Given the description of an element on the screen output the (x, y) to click on. 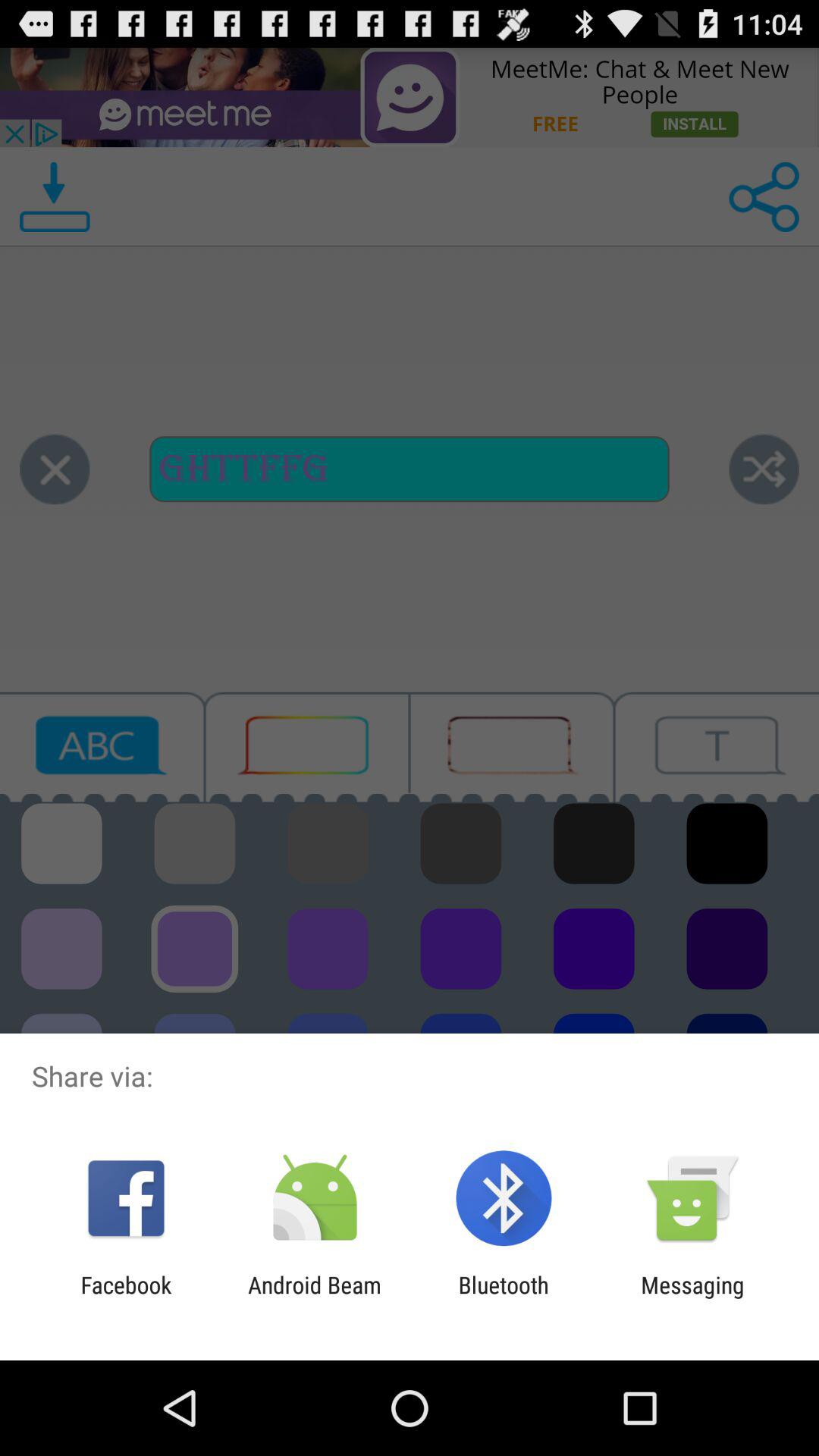
turn off the bluetooth app (503, 1298)
